Given the description of an element on the screen output the (x, y) to click on. 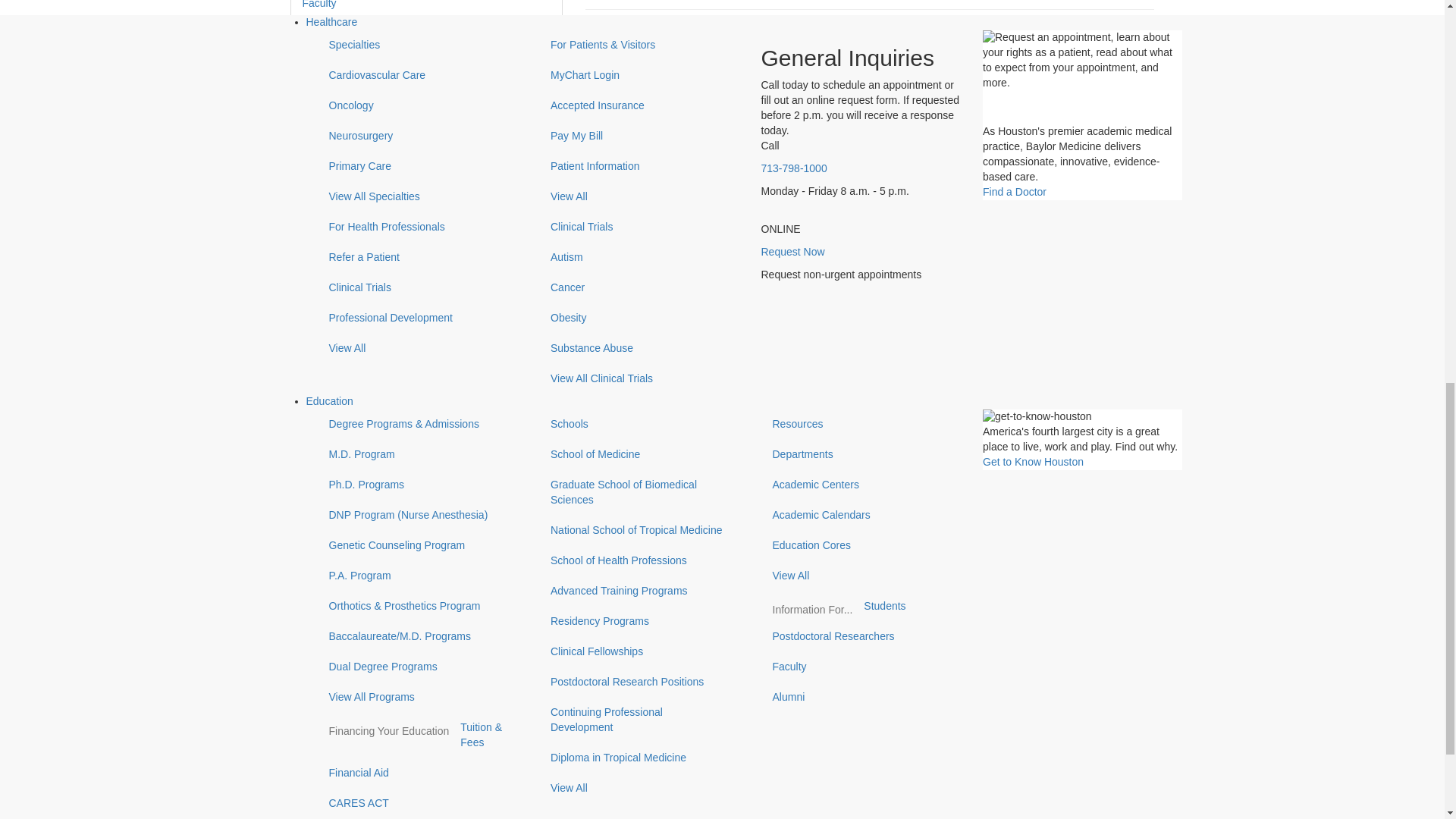
facebook (317, 548)
Web Request (372, 747)
